Given the description of an element on the screen output the (x, y) to click on. 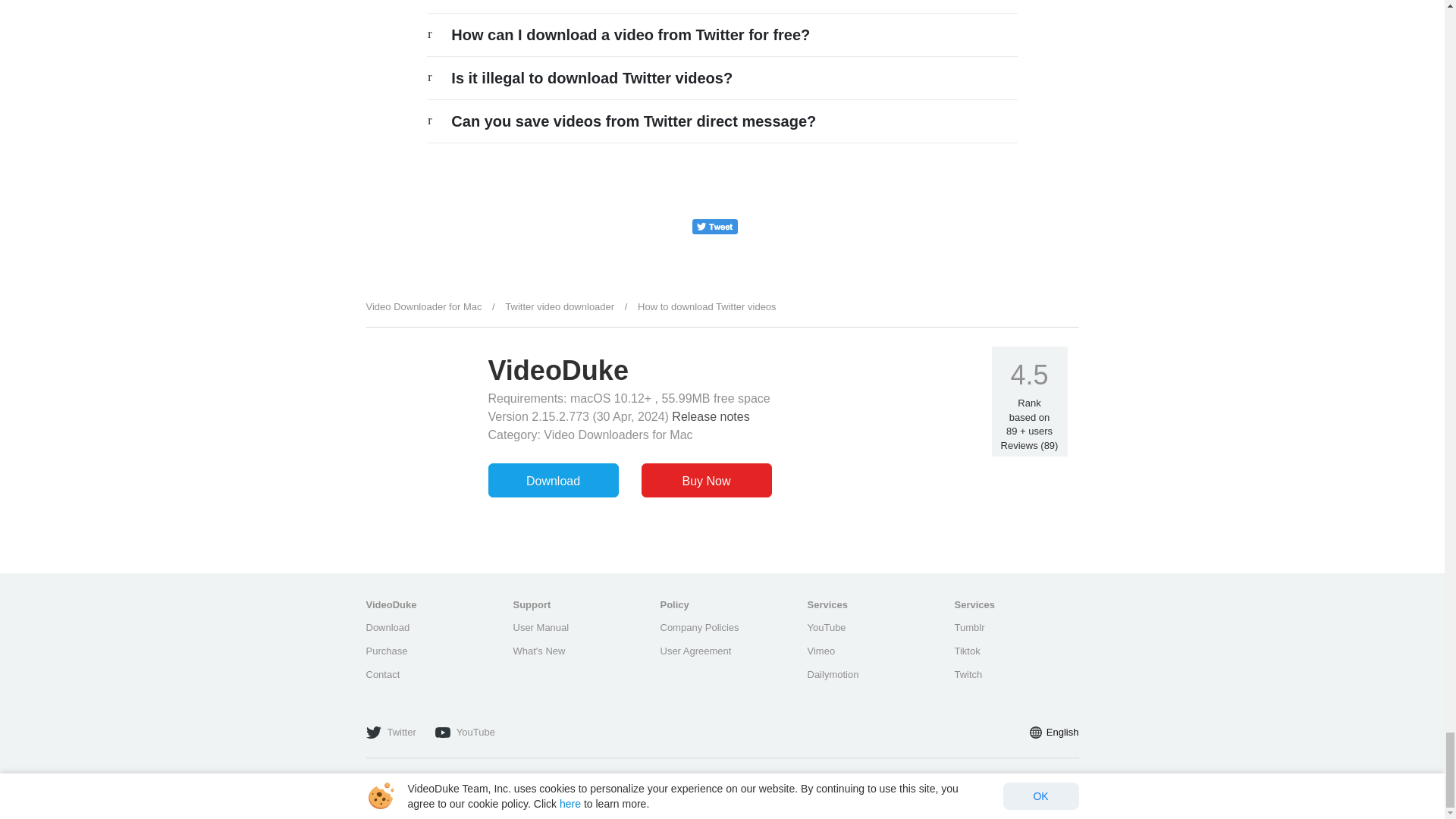
Twitter video downloader (559, 306)
How can I download a video from Twitter for free? (630, 34)
Buy Now (706, 480)
Video Downloader for Mac (423, 306)
Video Downloader for Mac (423, 306)
User Manual (540, 627)
Download (552, 480)
Can you save videos from Twitter direct message? (633, 121)
How to download Twitter videos (706, 306)
Is it illegal to download Twitter videos? (591, 76)
Download (387, 627)
How to download Twitter videos (706, 306)
Contact (381, 674)
Company Policies (698, 627)
What's New (538, 650)
